Given the description of an element on the screen output the (x, y) to click on. 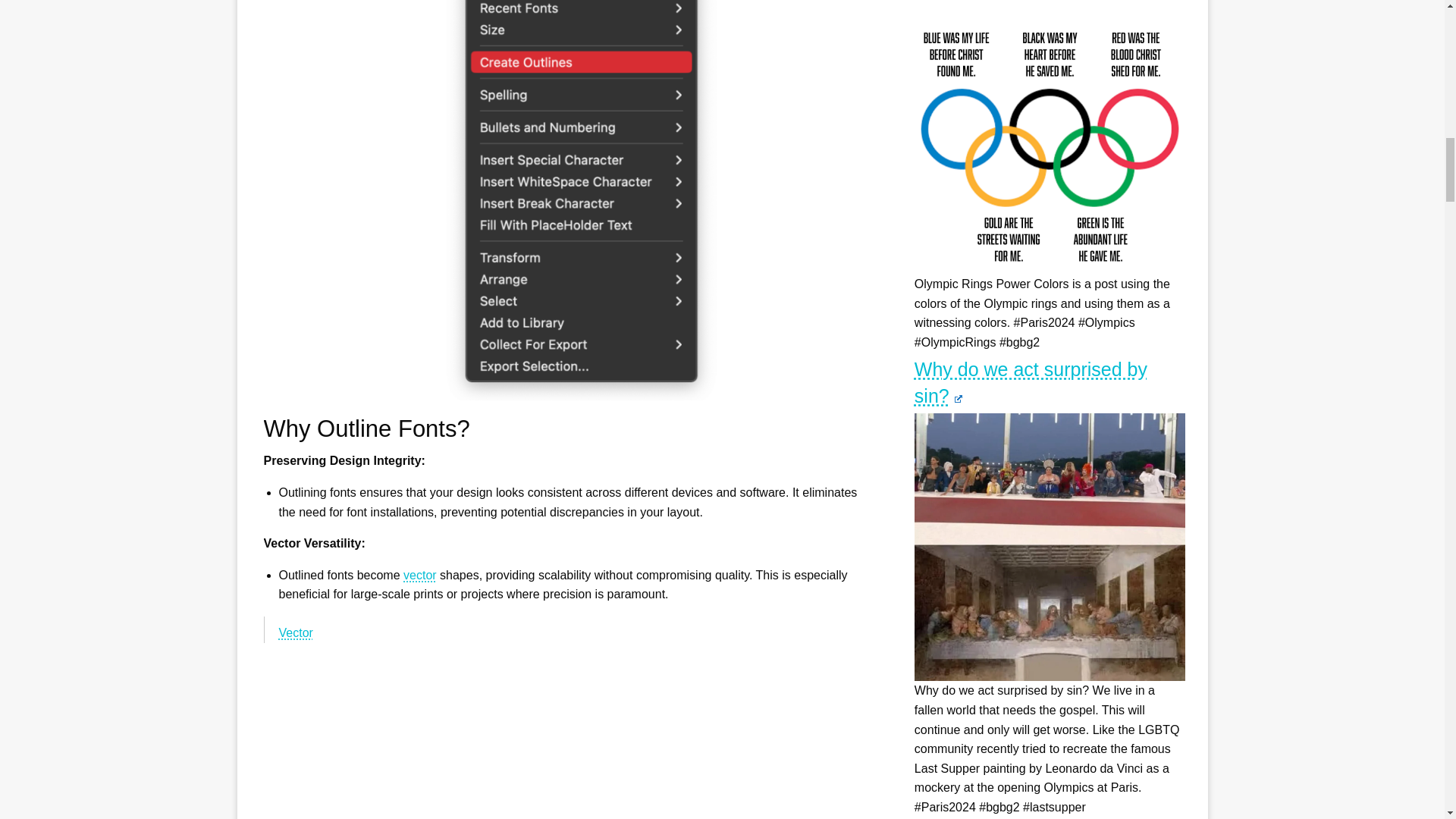
vector (419, 574)
Vector (296, 632)
